Given the description of an element on the screen output the (x, y) to click on. 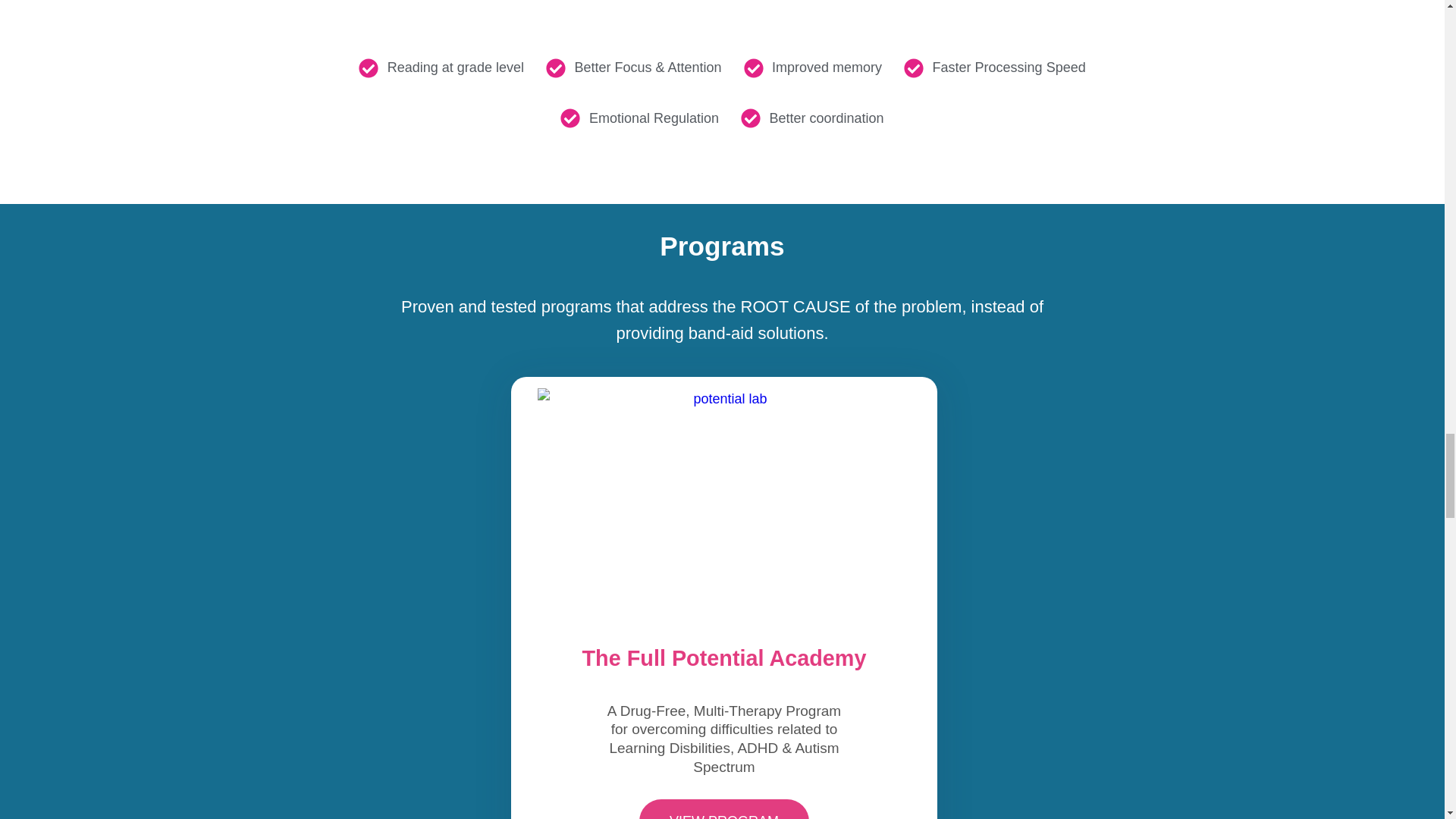
View Full Potential Academy (724, 503)
VIEW PROGRAM (724, 809)
